Given the description of an element on the screen output the (x, y) to click on. 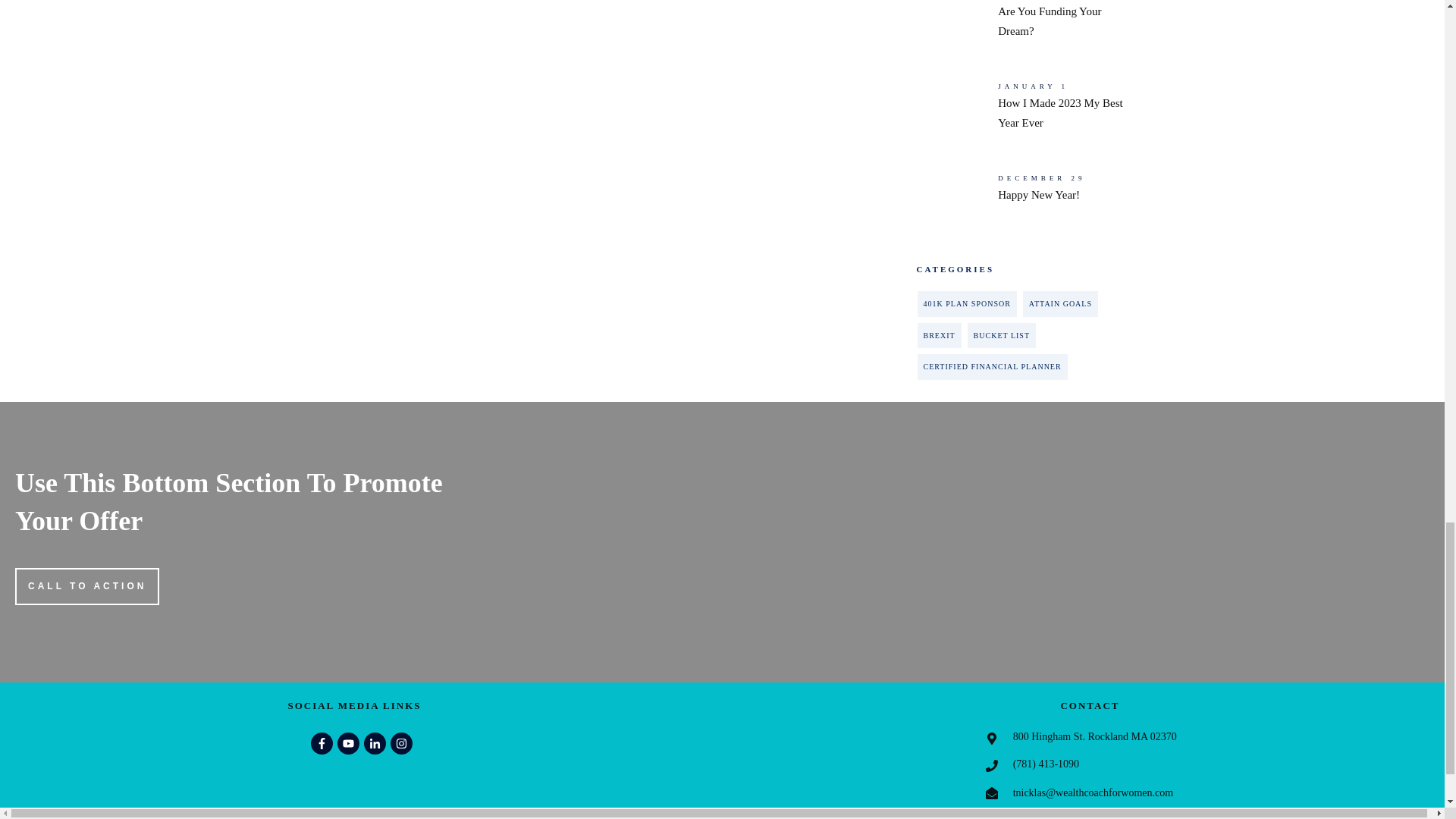
CALL TO ACTION (86, 586)
How I Made 2023 My Best Year Ever (1019, 110)
ATTAIN GOALS (1060, 304)
BREXIT (939, 336)
CERTIFIED FINANCIAL PLANNER (992, 366)
Are You Funding Your Dream? (1019, 24)
BUCKET LIST (1001, 336)
401K PLAN SPONSOR (966, 304)
Happy New Year! (1019, 201)
